Given the description of an element on the screen output the (x, y) to click on. 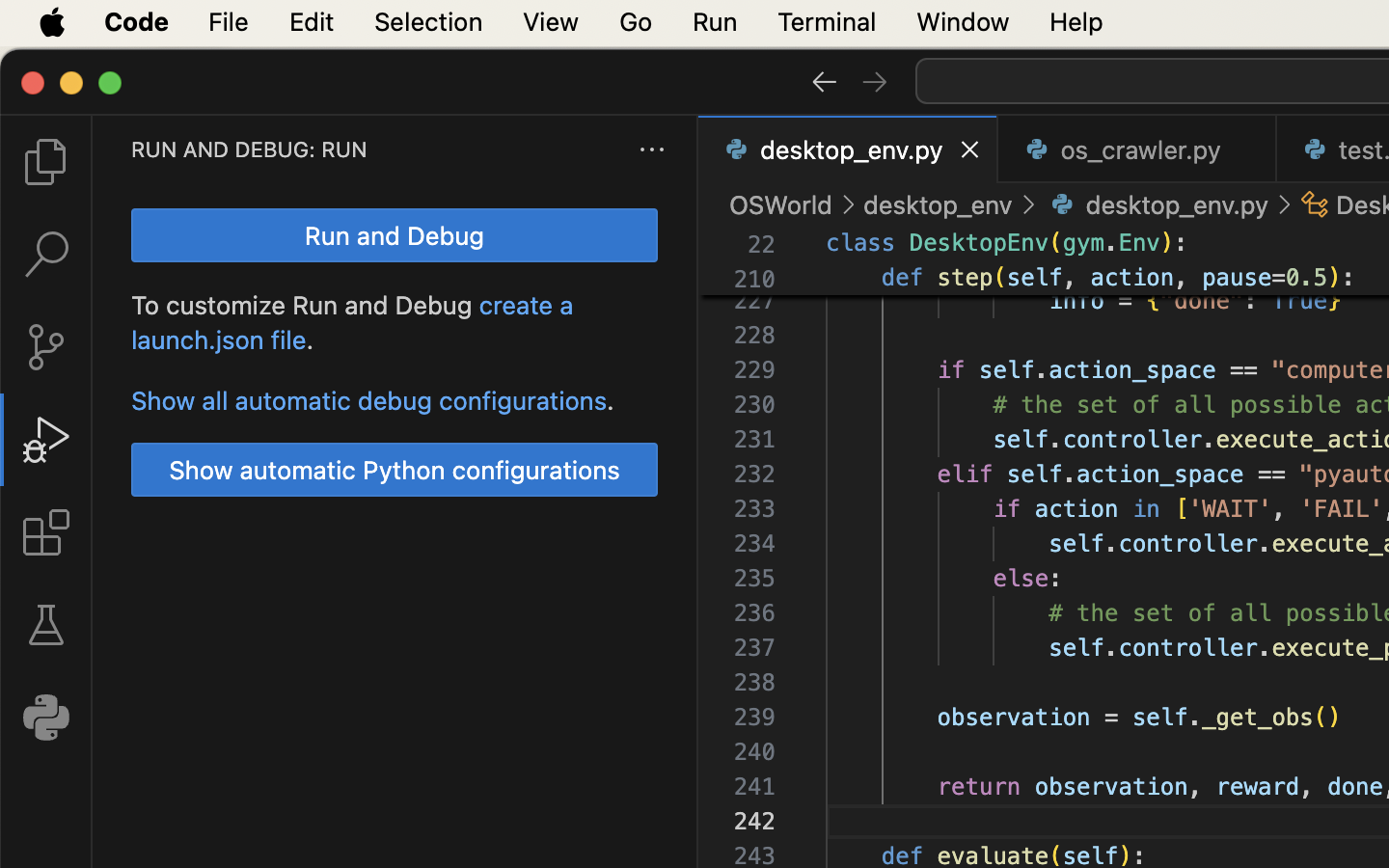
 Element type: AXStaticText (848, 204)
22 Element type: AXStaticText (761, 244)
 Element type: AXStaticText (807, 240)
1 desktop_env.py   Element type: AXRadioButton (848, 149)
OSWorld Element type: AXGroup (781, 204)
